Given the description of an element on the screen output the (x, y) to click on. 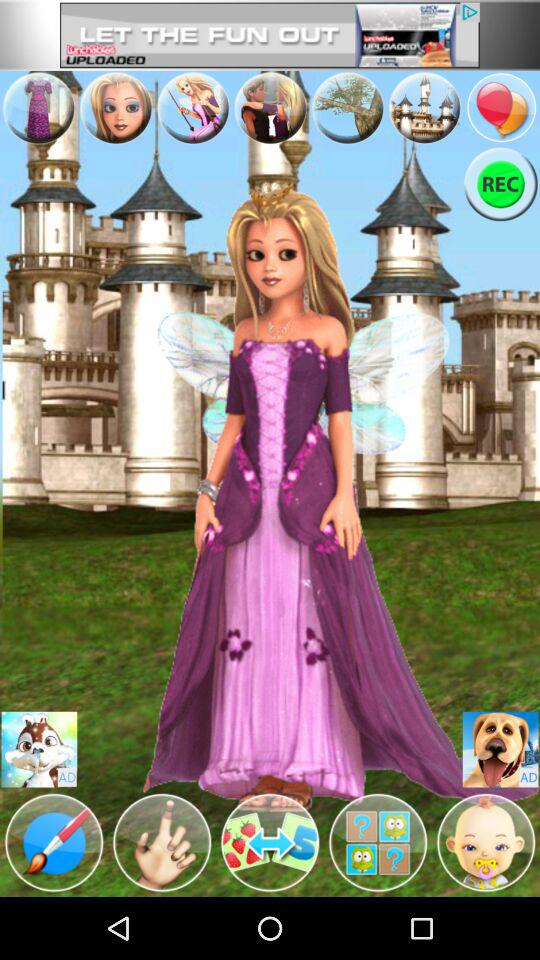
opens a character section on the app (486, 843)
